Given the description of an element on the screen output the (x, y) to click on. 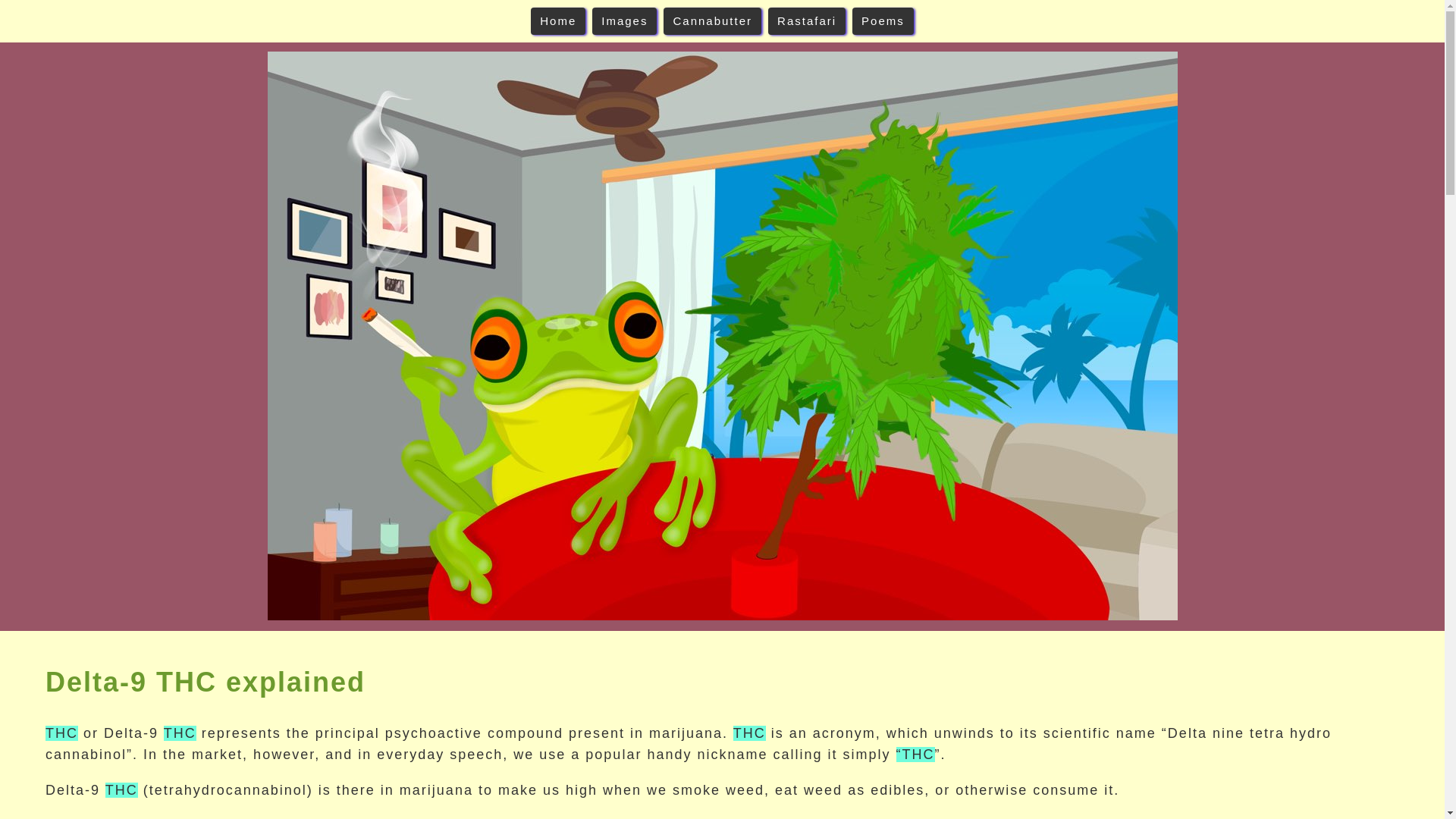
Poems (882, 21)
Home (558, 21)
Rastafari (806, 21)
Cannabutter (712, 21)
Images (624, 21)
